Given the description of an element on the screen output the (x, y) to click on. 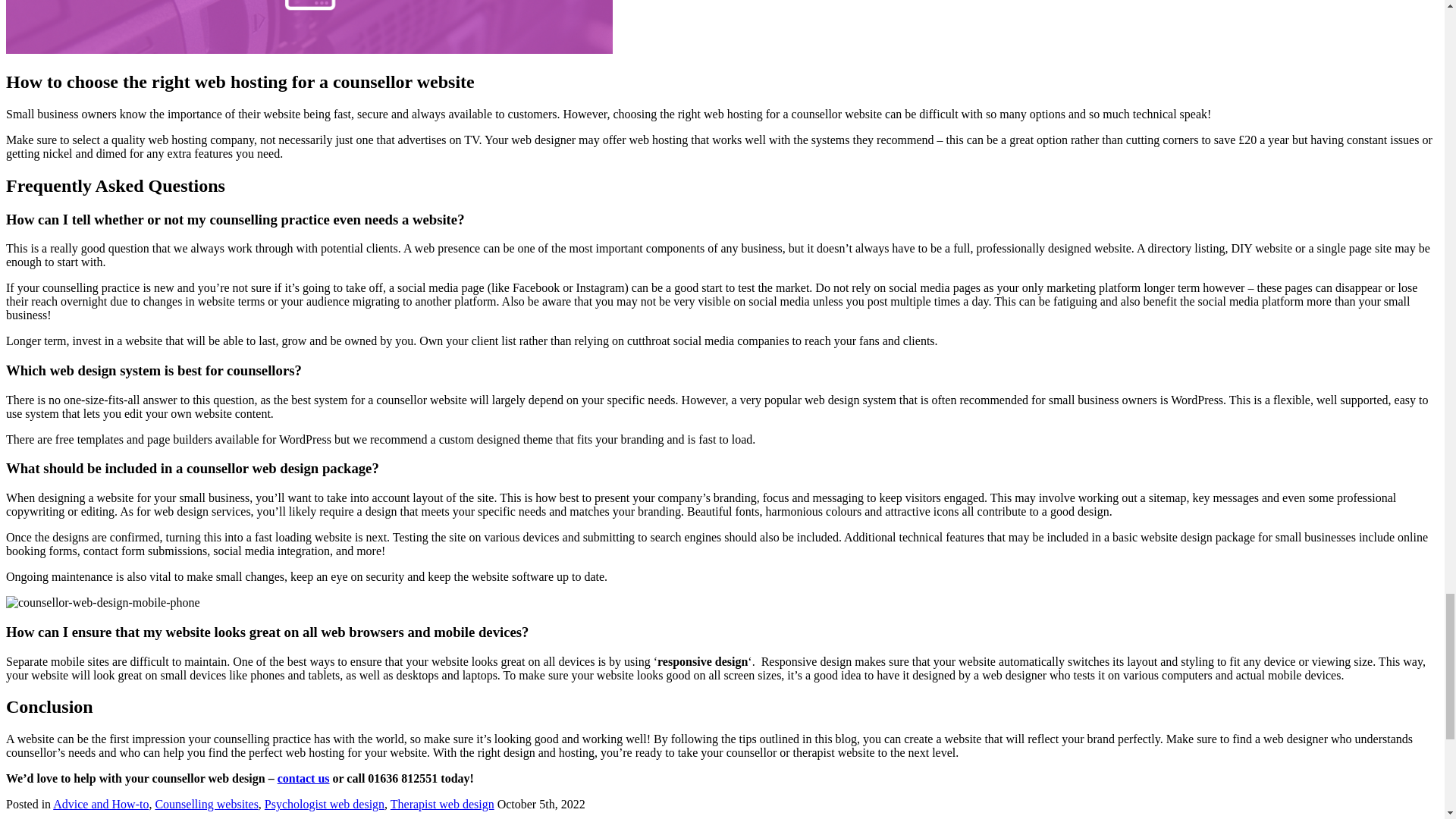
Counselling websites (205, 803)
Therapist web design (442, 803)
Advice and How-to (100, 803)
Psychologist web design (324, 803)
contact us (304, 778)
